Given the description of an element on the screen output the (x, y) to click on. 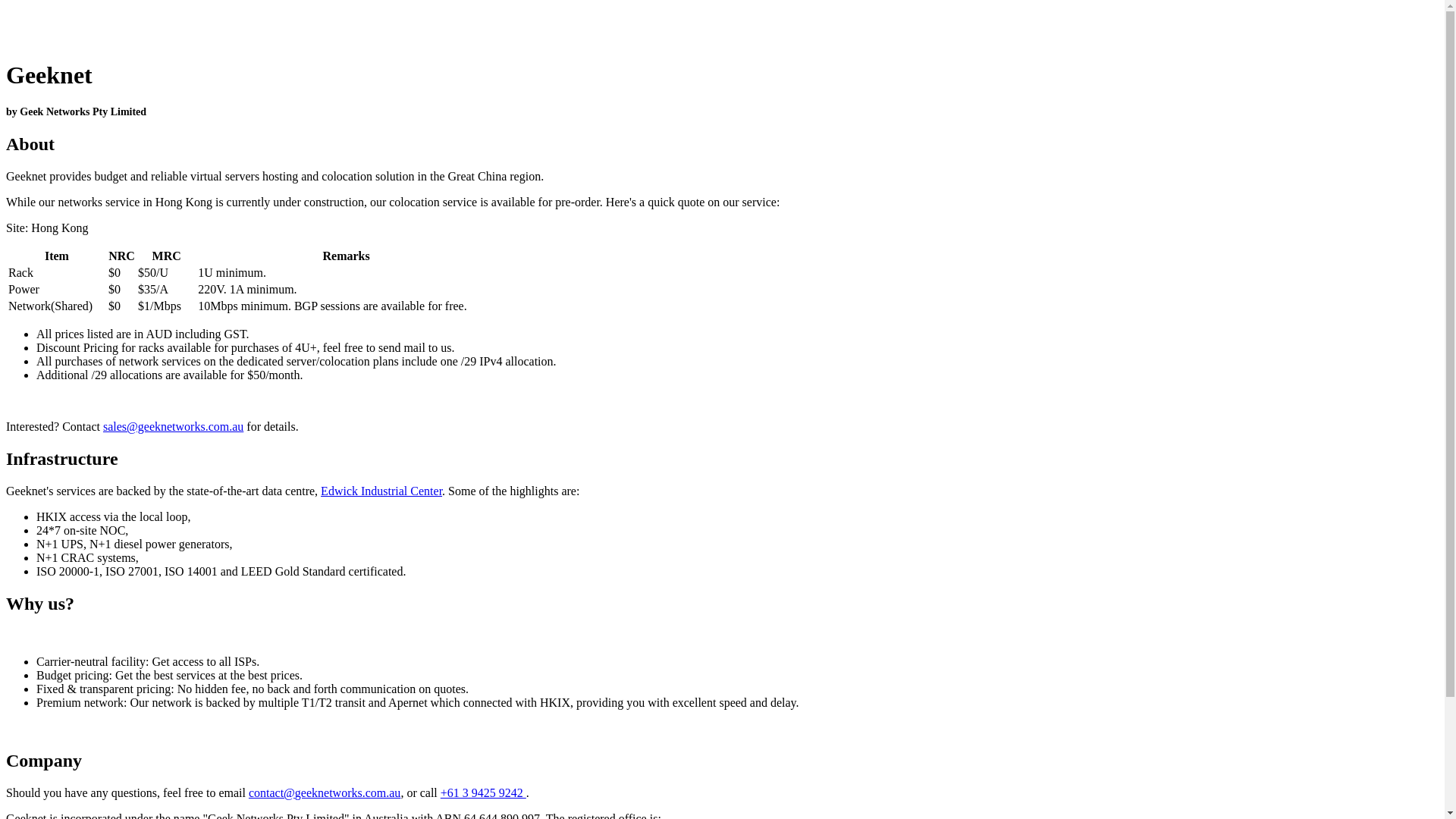
contact@ Element type: text (271, 792)
geeknetworks.com.au Element type: text (347, 792)
Edwick Industrial Center Element type: text (381, 490)
sales@geeknetworks.com.au Element type: text (173, 426)
+61 3 9425 9242 Element type: text (483, 792)
